Given the description of an element on the screen output the (x, y) to click on. 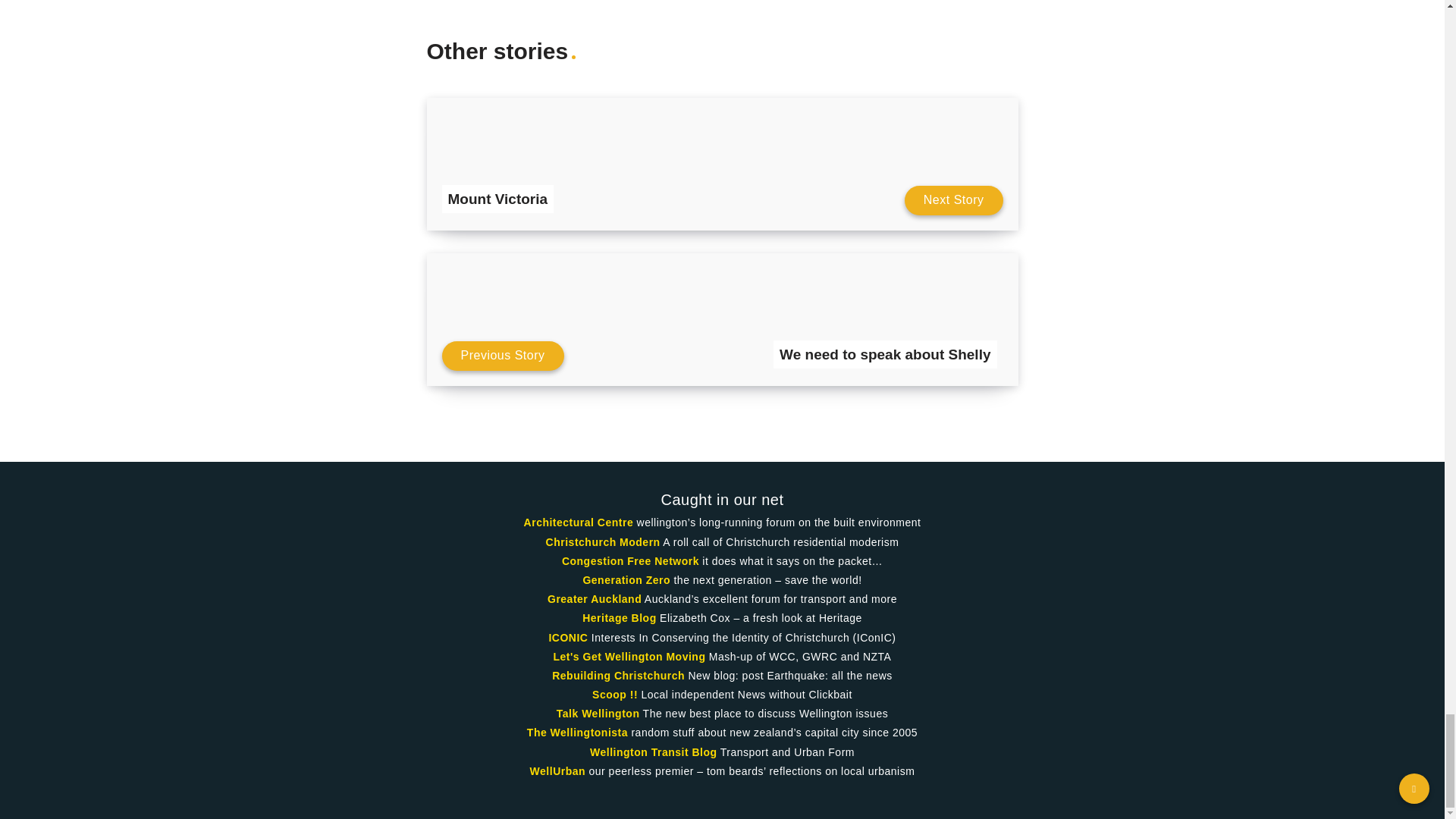
Architectural Centre (578, 522)
Christchurch Modern (603, 541)
Local independent News without Clickbait (614, 694)
Greater Auckland (594, 598)
Transport and Urban Form (653, 752)
New blog: post Earthquake: all the news (617, 675)
Generation Zero (625, 580)
A roll call of Christchurch residential moderism (603, 541)
Congestion Free Network (630, 561)
The new best place to discuss Wellington issues (598, 713)
